Given the description of an element on the screen output the (x, y) to click on. 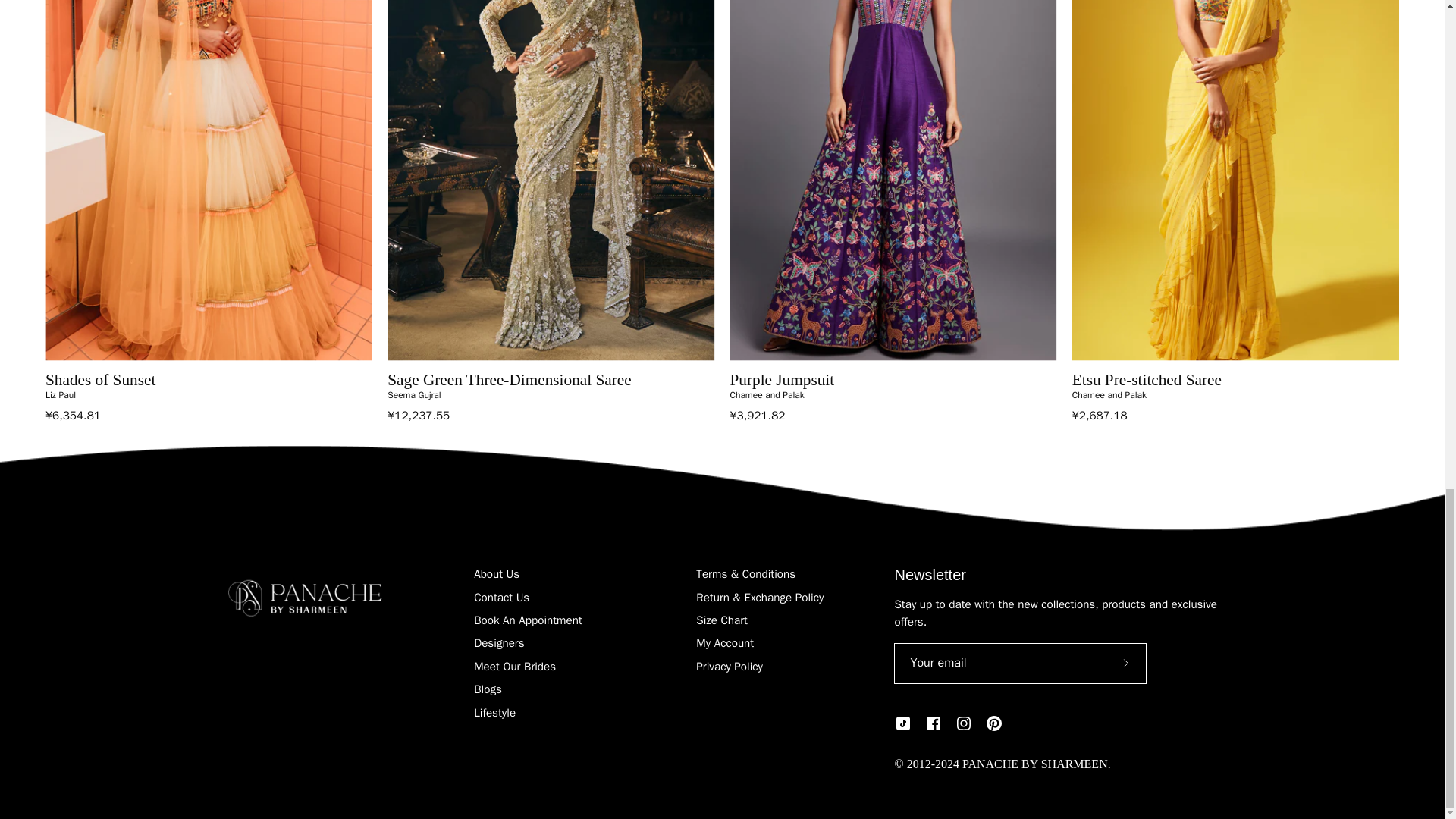
View Panache by Sharmeen on Instagram (963, 723)
View Panache by Sharmeen on Tiktok (902, 723)
View Panache by Sharmeen on Facebook (933, 723)
View Panache by Sharmeen on Pinterest (994, 723)
